Given the description of an element on the screen output the (x, y) to click on. 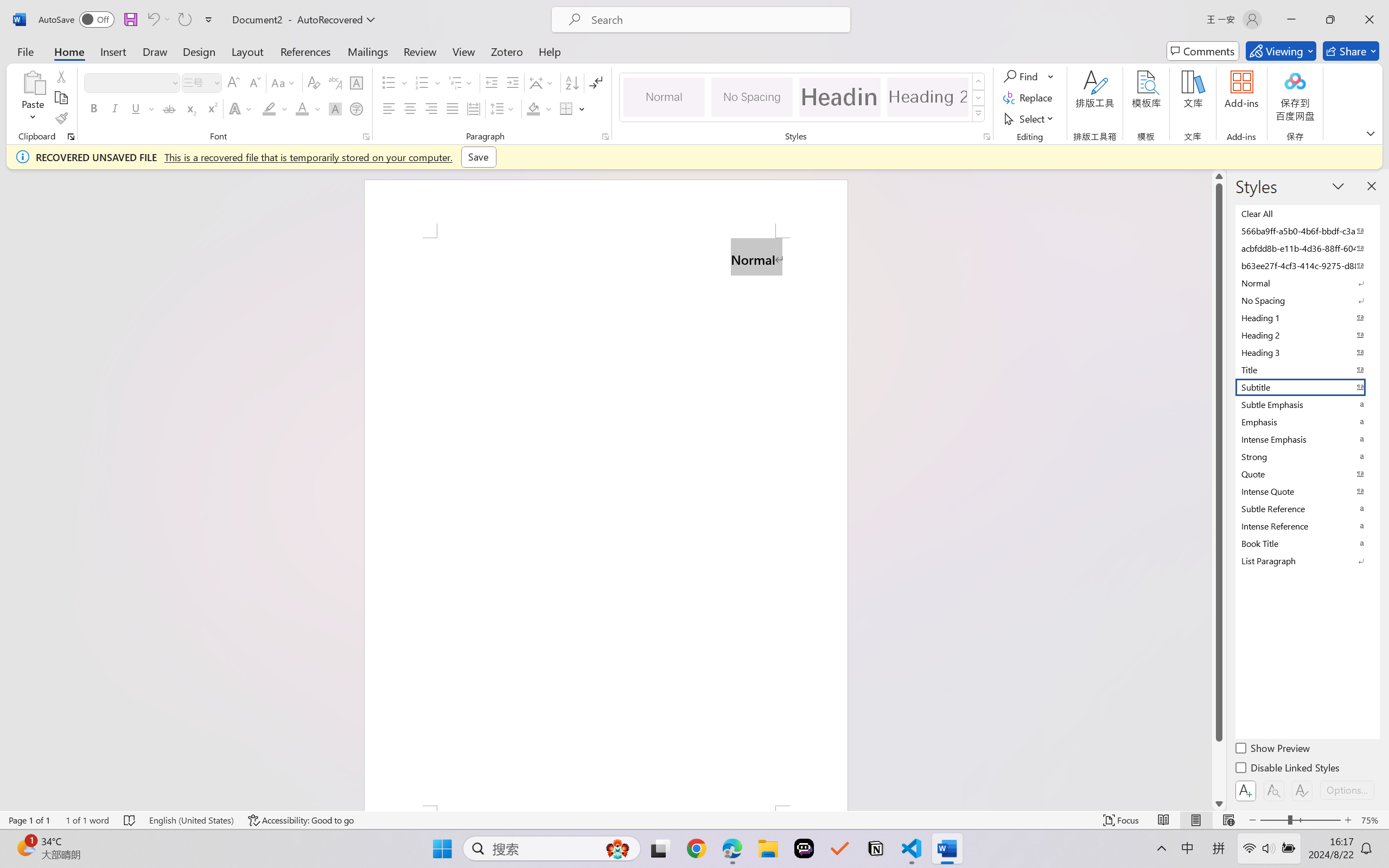
Clear Formatting (313, 82)
Emphasis (1306, 421)
Select (1030, 118)
Text Effects and Typography (241, 108)
Align Right (431, 108)
Justify (452, 108)
Show Preview (1273, 749)
Text Highlight Color Yellow (269, 108)
Increase Indent (512, 82)
